Given the description of an element on the screen output the (x, y) to click on. 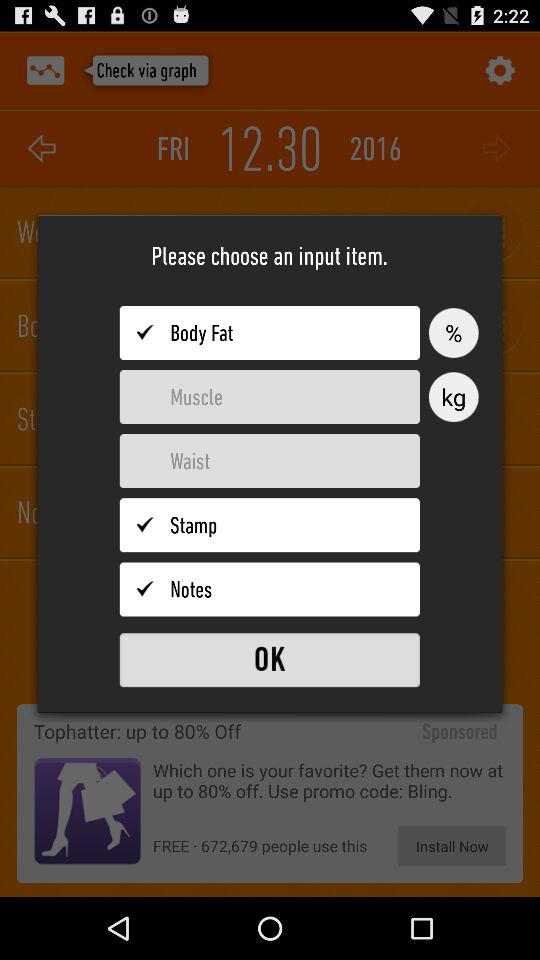
input body fat percentage value (269, 333)
